Given the description of an element on the screen output the (x, y) to click on. 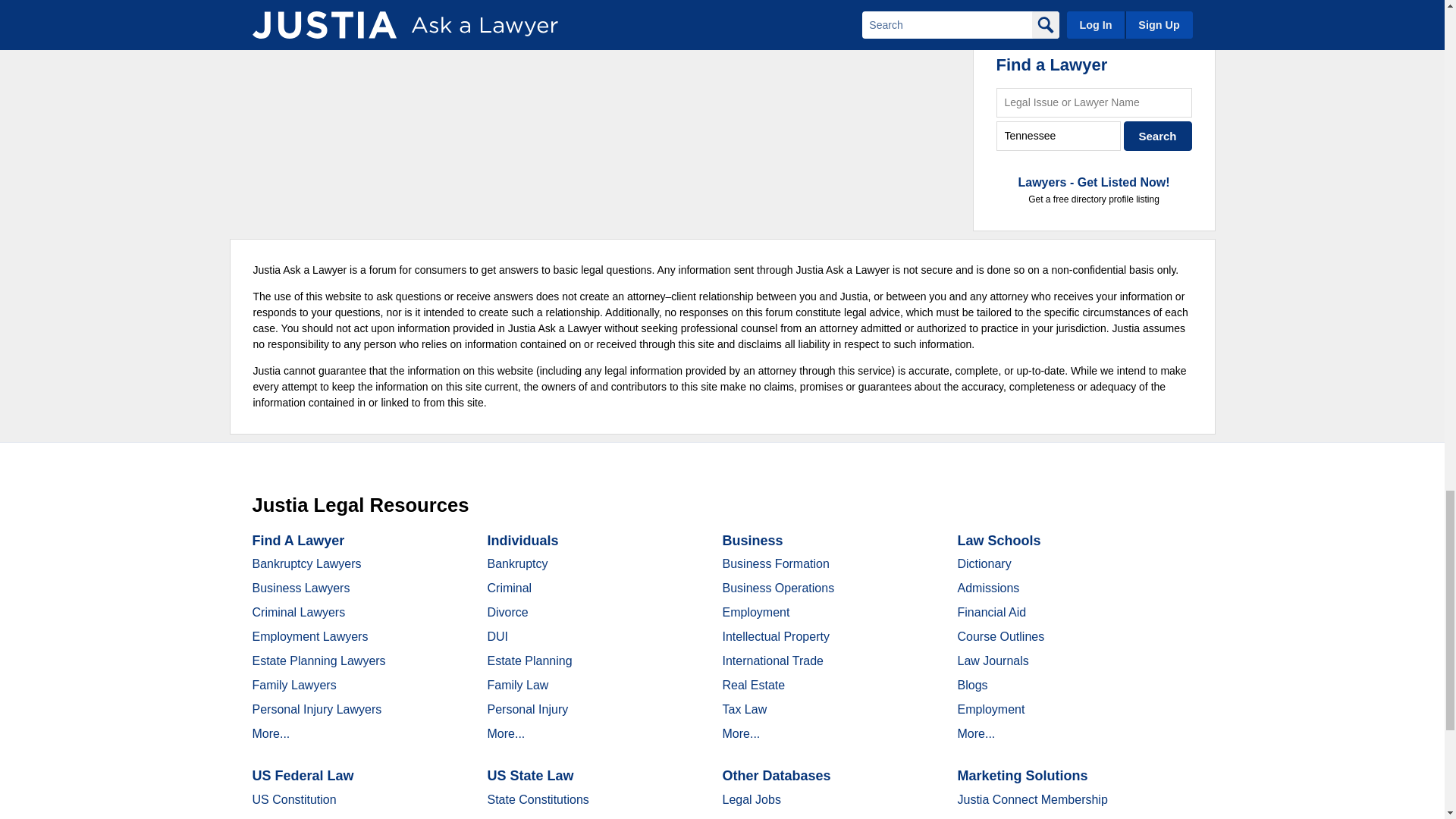
Search (1158, 135)
Legal Issue or Lawyer Name (1093, 102)
City, State (1058, 135)
Search (1158, 135)
Tennessee (1058, 135)
